Given the description of an element on the screen output the (x, y) to click on. 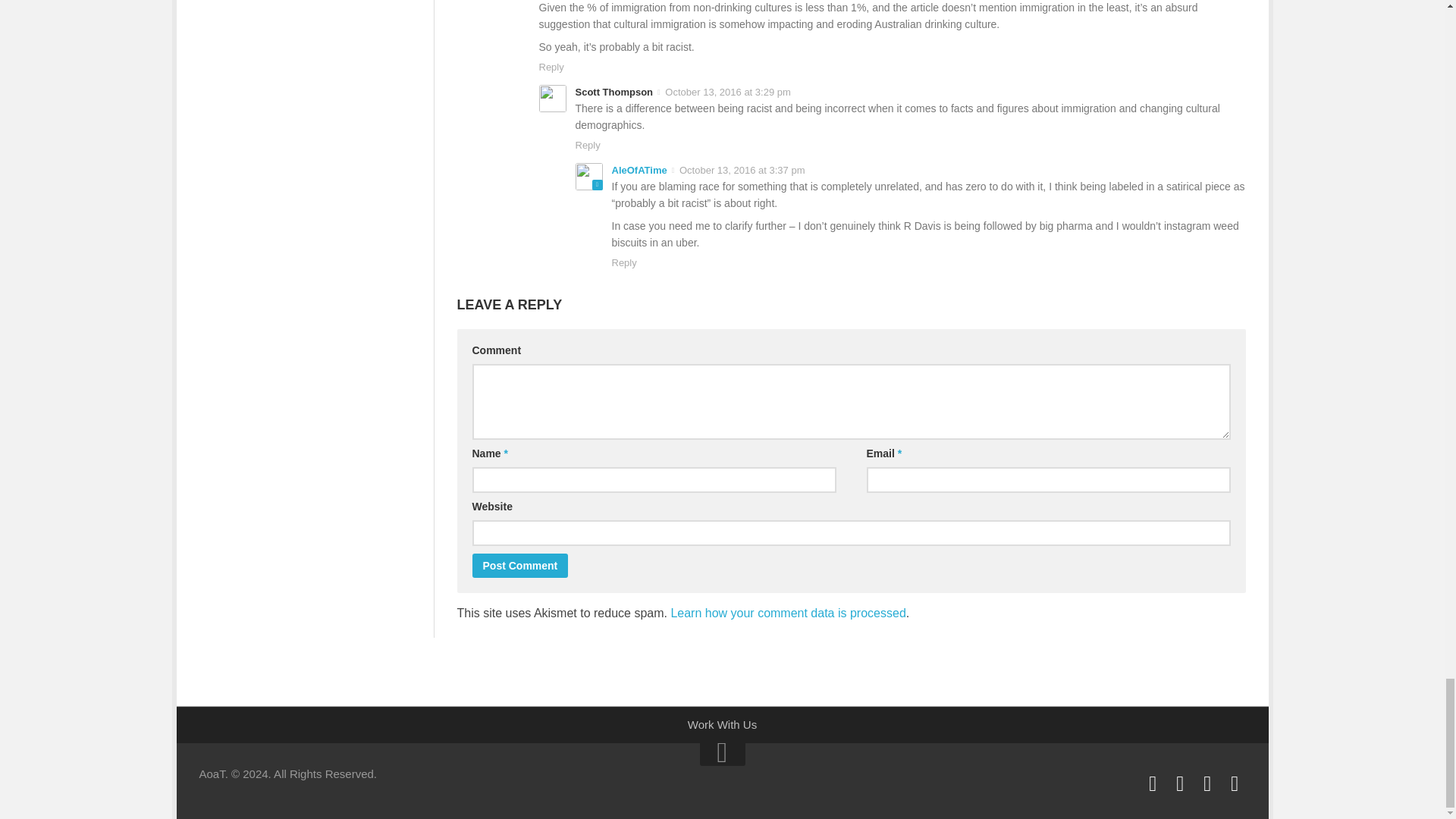
Facebook (1152, 783)
Post Comment (519, 565)
Twitter (1206, 783)
Instagram (1180, 783)
